Given the description of an element on the screen output the (x, y) to click on. 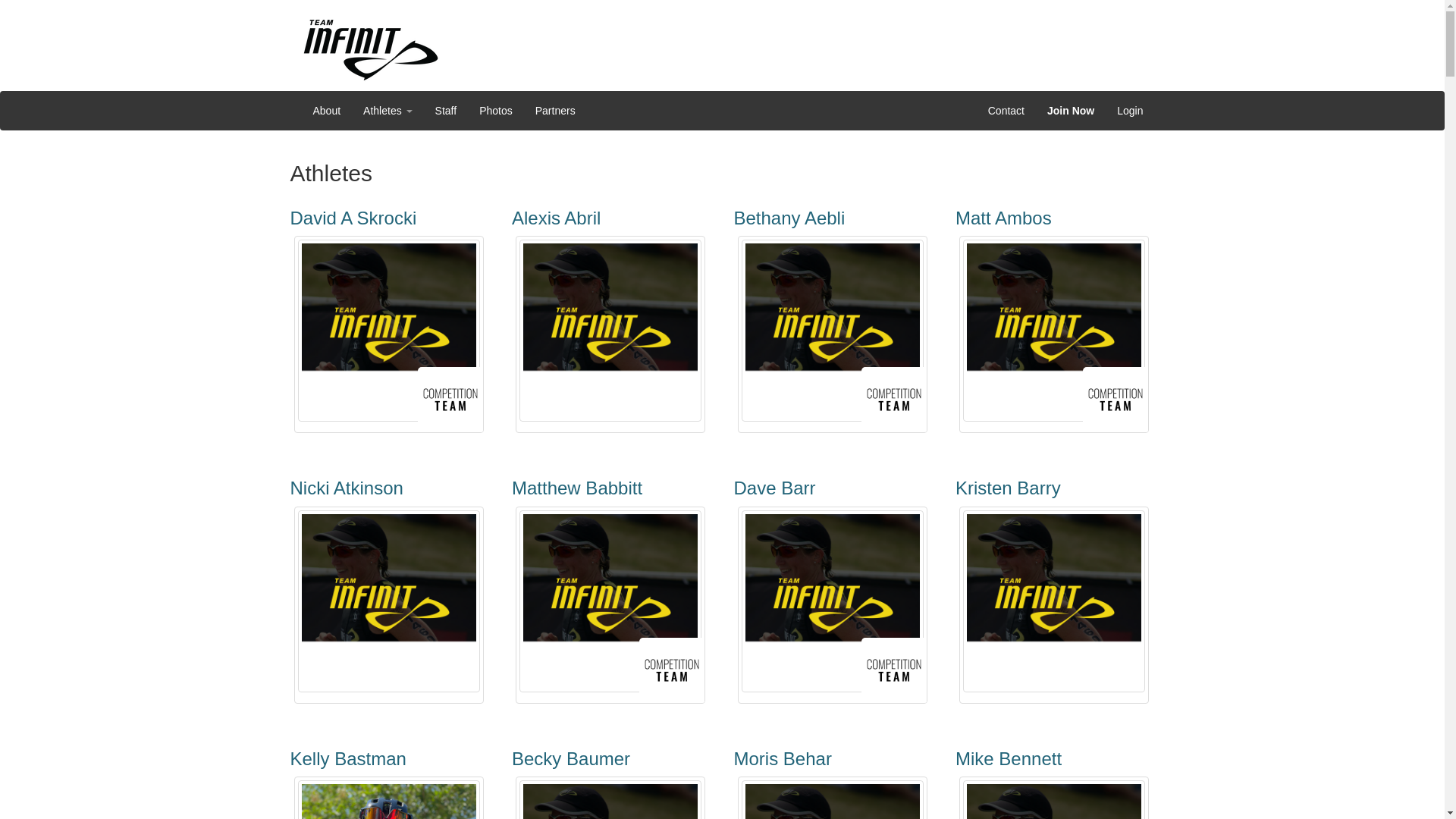
Partners (555, 110)
Moris Behar (782, 758)
Join Now (1070, 110)
David A Skrocki (352, 218)
Kristen Barry (1008, 487)
Contact (1005, 110)
Bethany Aebli (789, 218)
About (326, 110)
Nicki Atkinson (346, 487)
Matt Ambos (1003, 218)
